Given the description of an element on the screen output the (x, y) to click on. 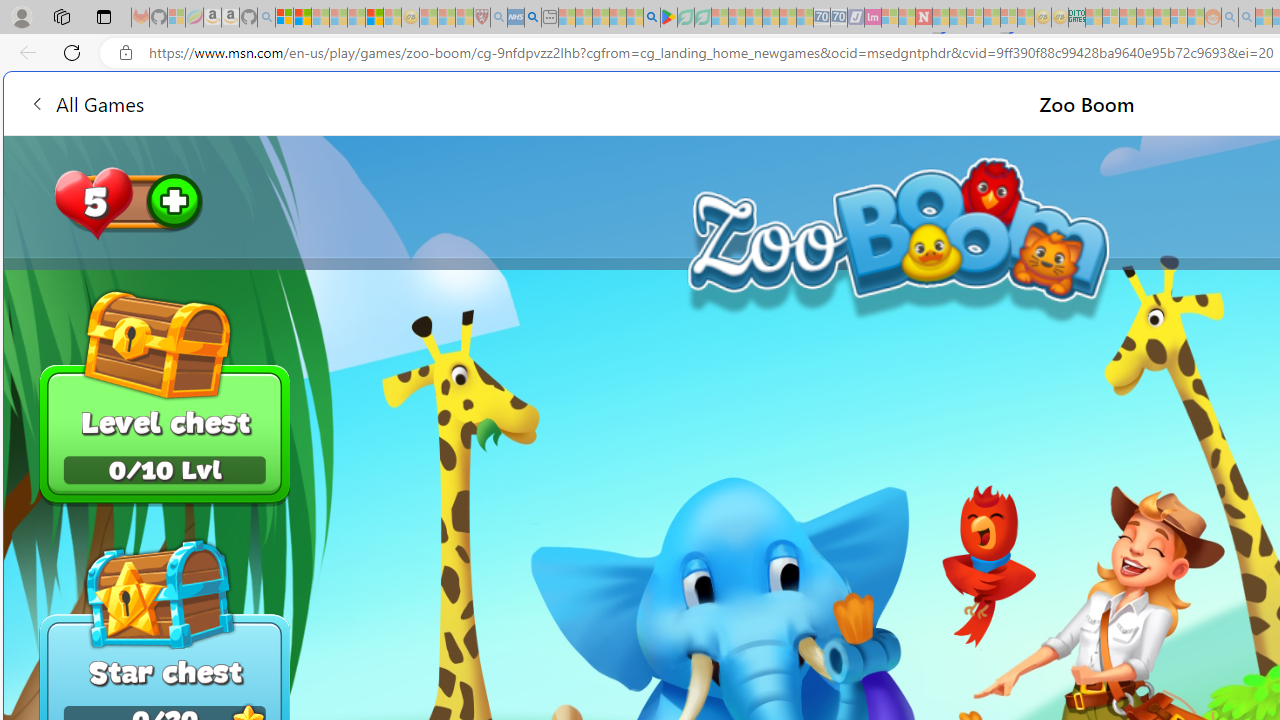
MSNBC - MSN - Sleeping (1093, 17)
All Games (86, 102)
The Weather Channel - MSN - Sleeping (320, 17)
